Given the description of an element on the screen output the (x, y) to click on. 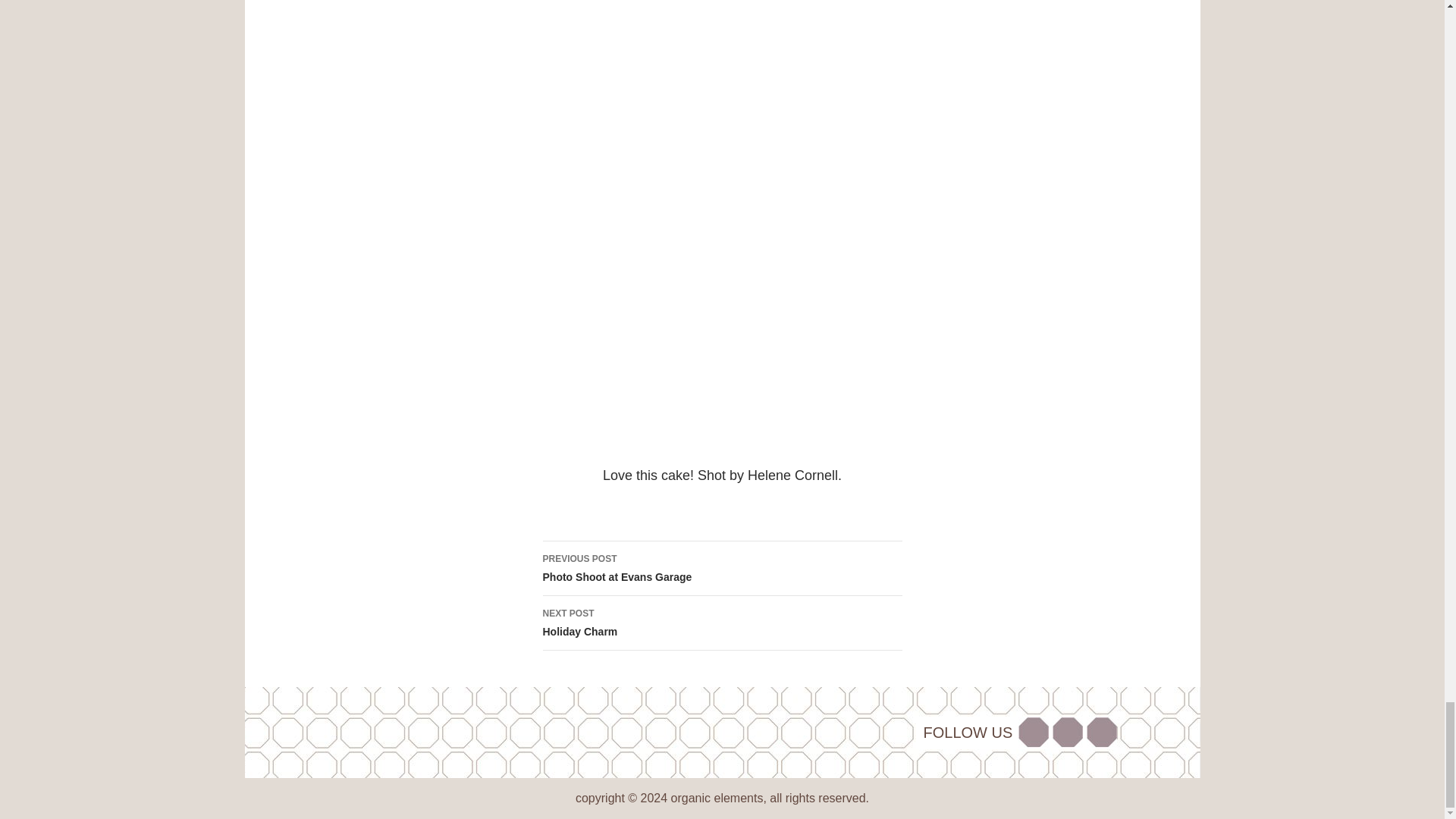
INSTAGRAM (1067, 732)
FACEBOOK (722, 623)
